Given the description of an element on the screen output the (x, y) to click on. 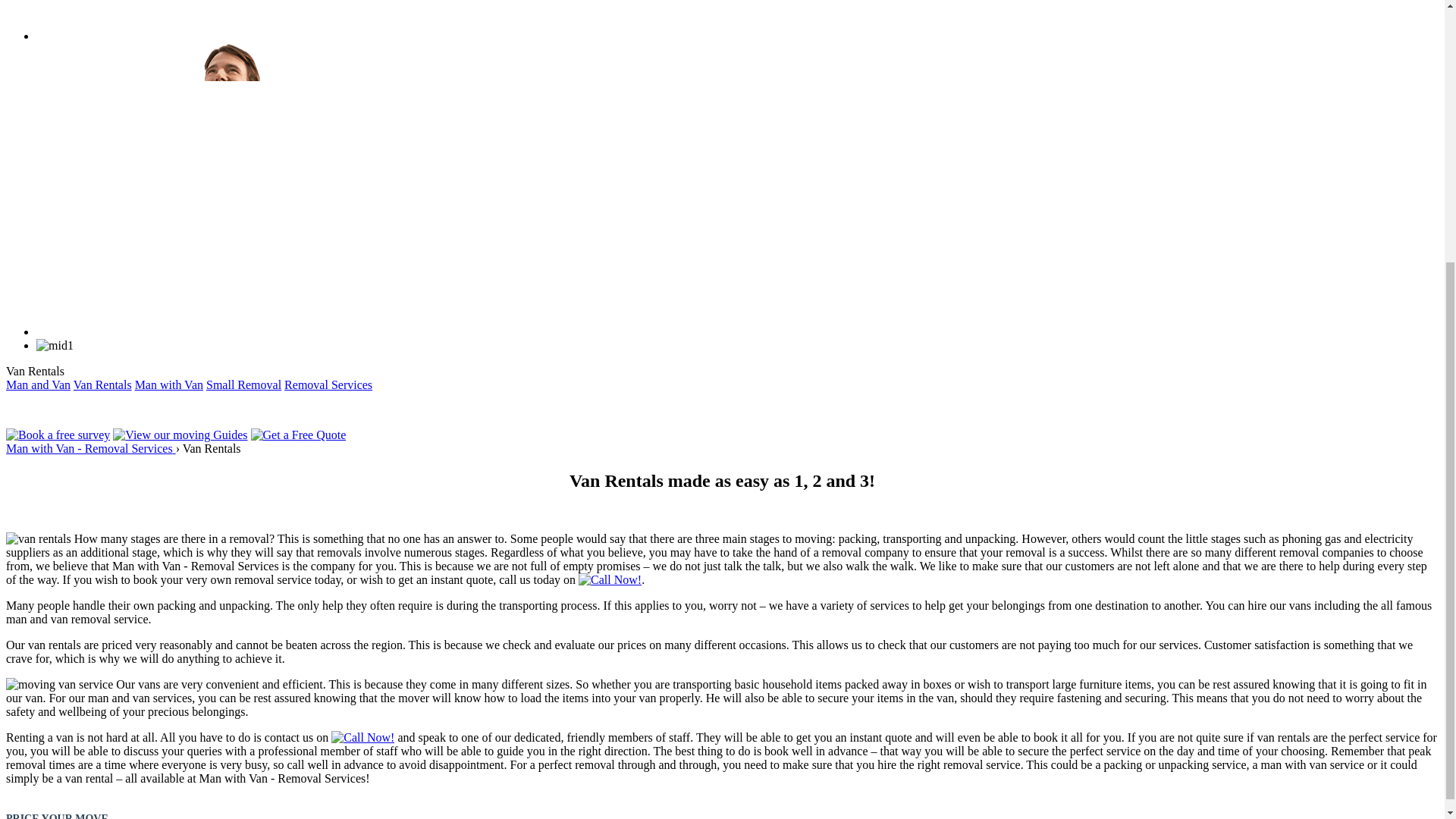
Call Now! (362, 737)
Small Removal (243, 384)
Man with Van (169, 384)
Call Now! (610, 579)
Removal Services (327, 384)
Man and Van (37, 384)
Man with Van - Removal Services (90, 448)
Van Rentals (103, 384)
